Given the description of an element on the screen output the (x, y) to click on. 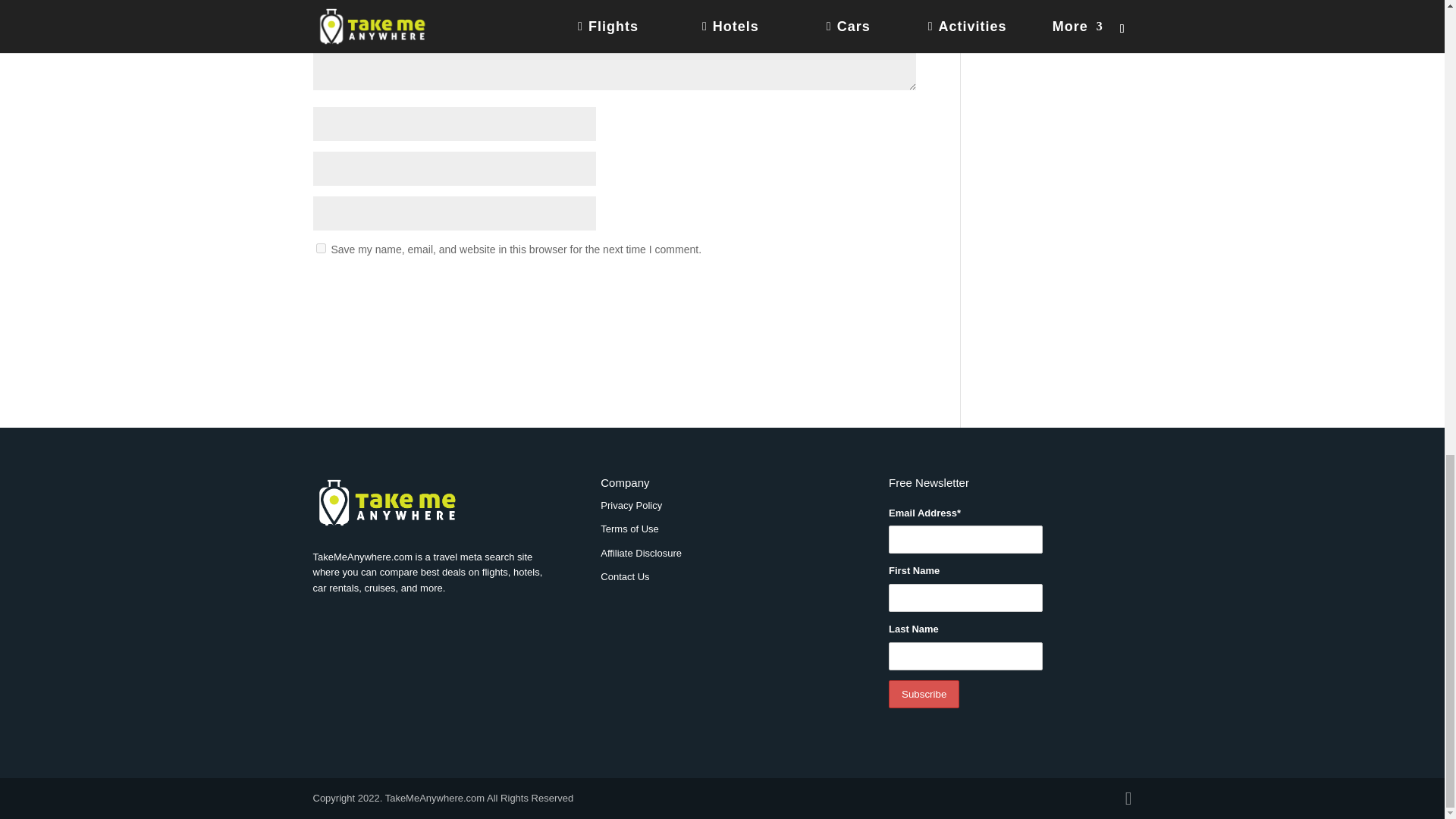
yes (319, 248)
Submit Comment (840, 288)
Submit Comment (840, 288)
Subscribe (923, 694)
